Given the description of an element on the screen output the (x, y) to click on. 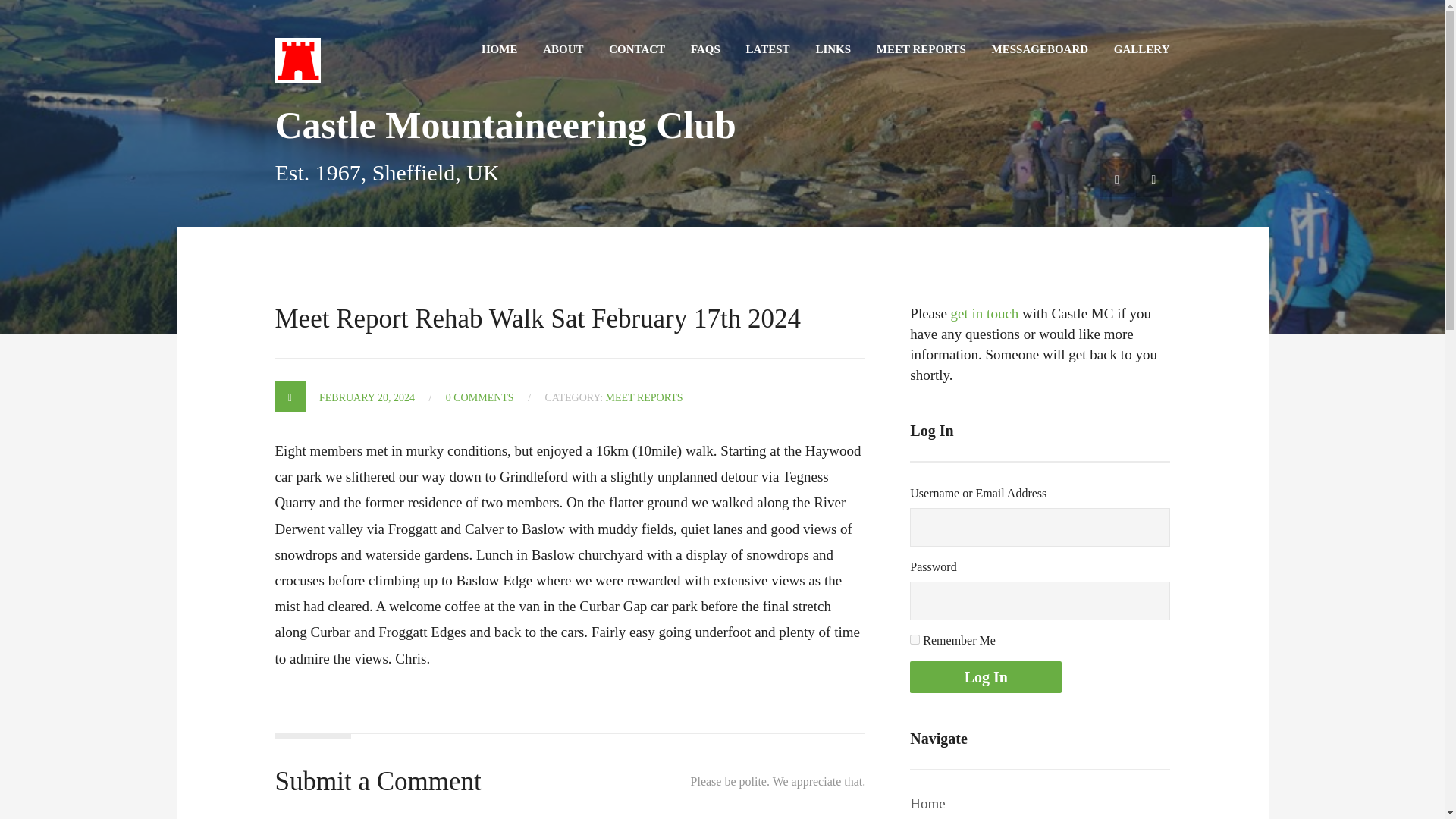
MESSAGEBOARD (1040, 36)
0 COMMENTS (479, 397)
Home (927, 803)
get in touch (984, 313)
Log In (985, 676)
FEBRUARY 20, 2024 (366, 397)
forever (915, 639)
MEET REPORTS (921, 36)
MEET REPORTS (643, 397)
Castle Mountaineering Club (297, 45)
